Given the description of an element on the screen output the (x, y) to click on. 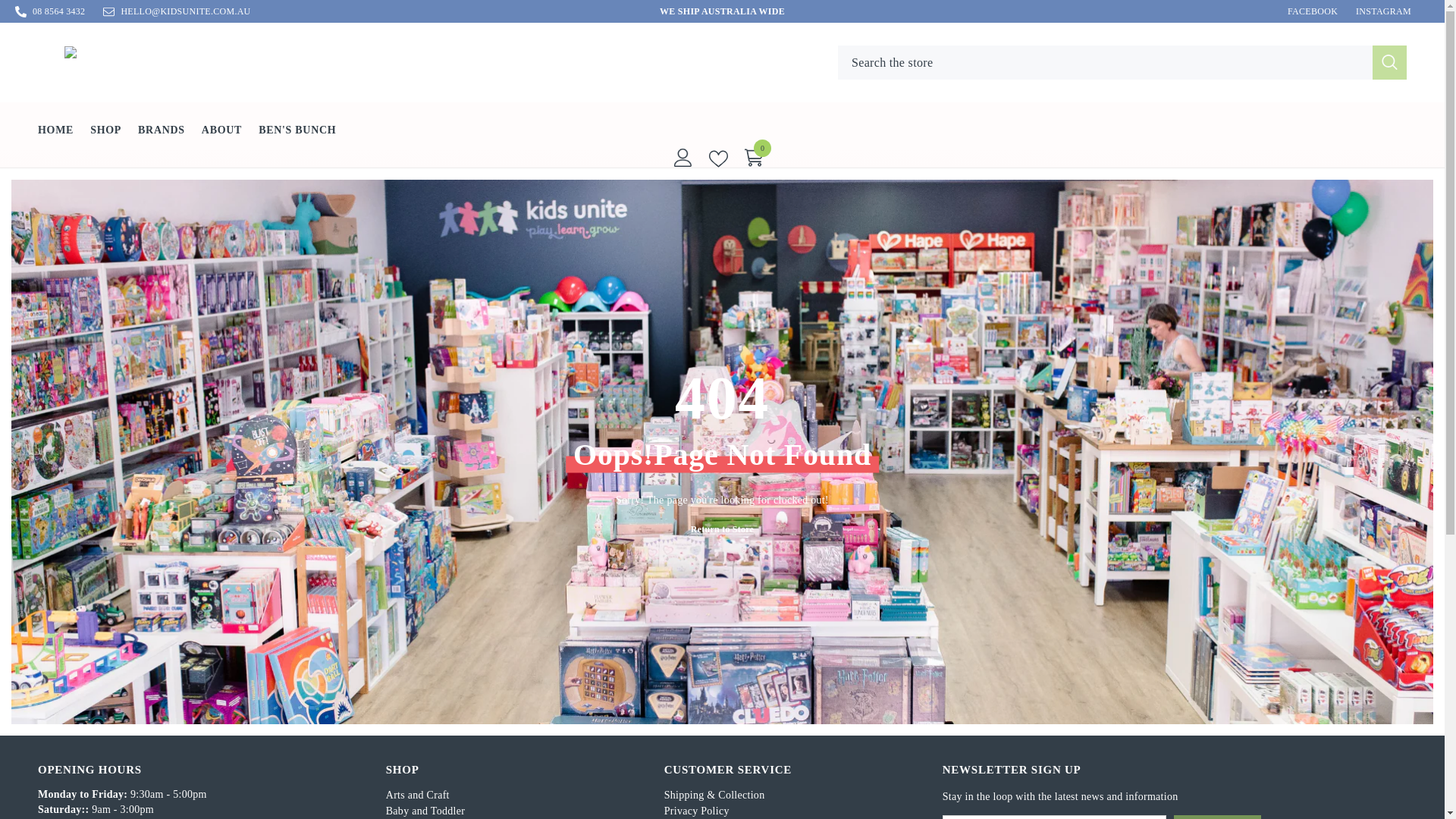
INSTAGRAM (1382, 10)
FACEBOOK (1312, 10)
HOME (55, 139)
08 8564 3432 (58, 10)
SHOP (105, 138)
